Given the description of an element on the screen output the (x, y) to click on. 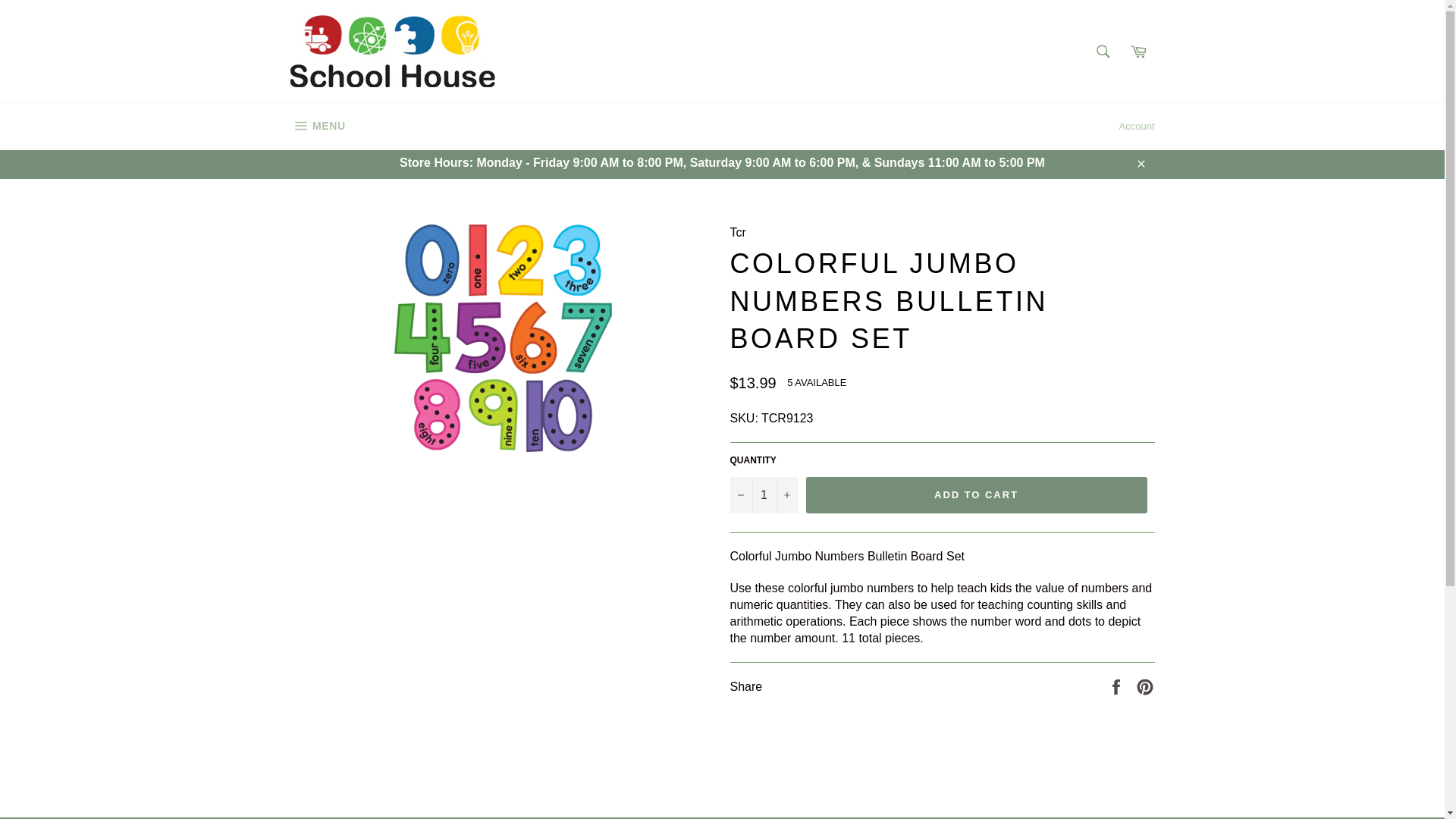
Share on Facebook (1117, 685)
Account (1136, 126)
Pin on Pinterest (1144, 685)
Search (1101, 50)
ADD TO CART (976, 494)
Pin on Pinterest (1144, 685)
1 (763, 494)
Close (1139, 163)
Cart (1138, 50)
Share on Facebook (317, 126)
